Given the description of an element on the screen output the (x, y) to click on. 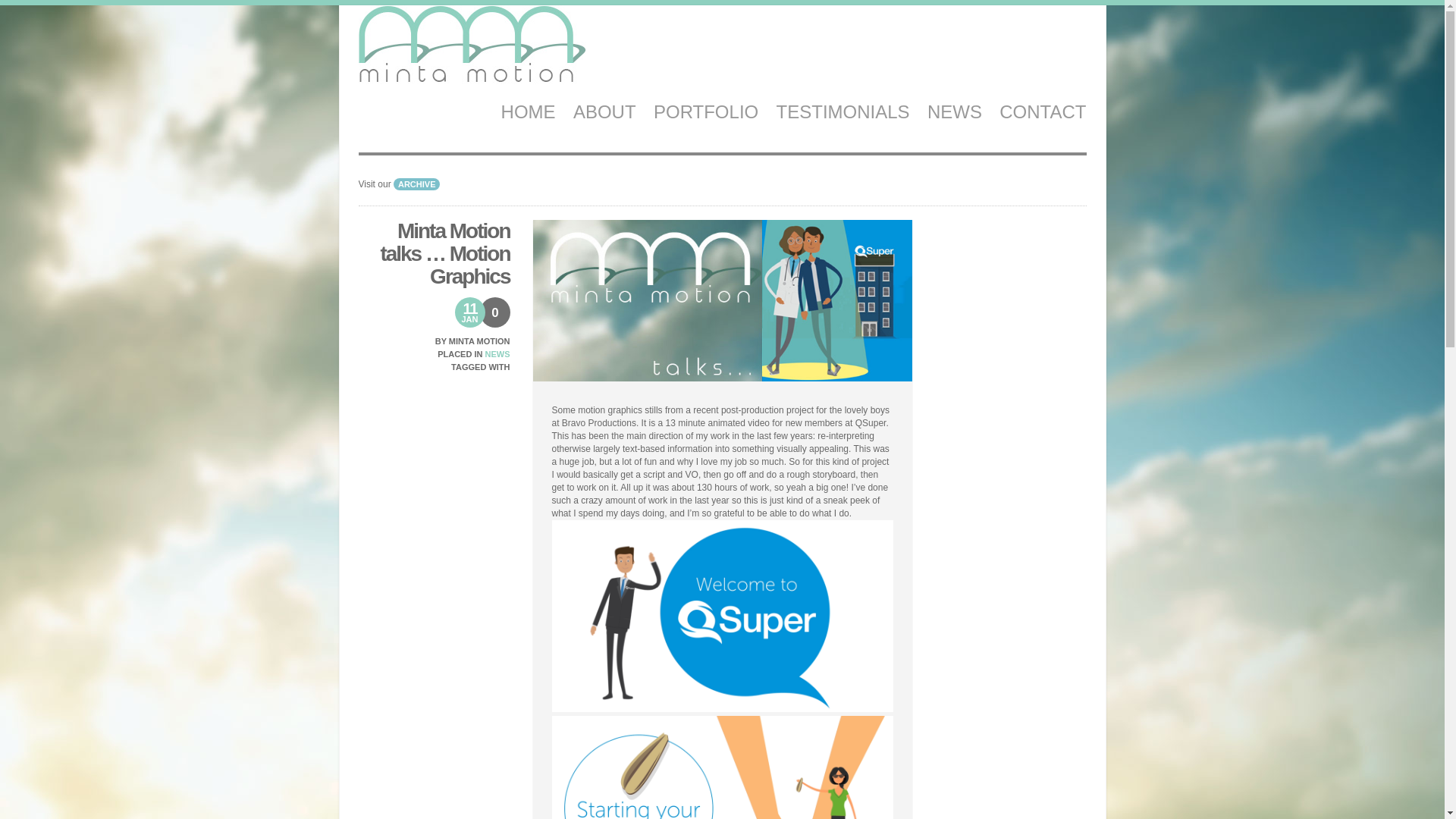
ARCHIVE (417, 184)
CONTACT (1042, 111)
PORTFOLIO (705, 111)
TESTIMONIALS (843, 111)
ABOUT (604, 111)
HOME (528, 111)
NEWS (954, 111)
0 (494, 308)
NEWS (497, 353)
